Given the description of an element on the screen output the (x, y) to click on. 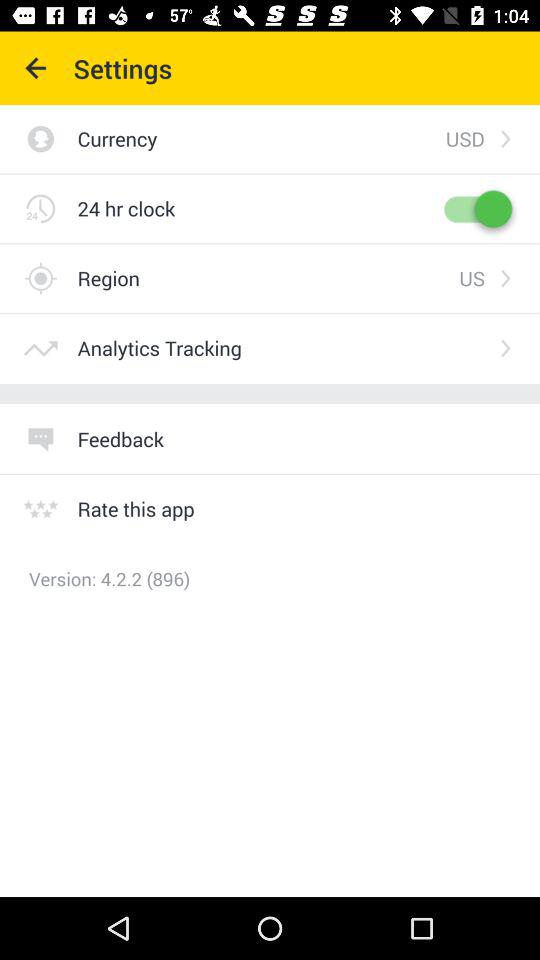
turn on icon next to settings item (36, 68)
